Given the description of an element on the screen output the (x, y) to click on. 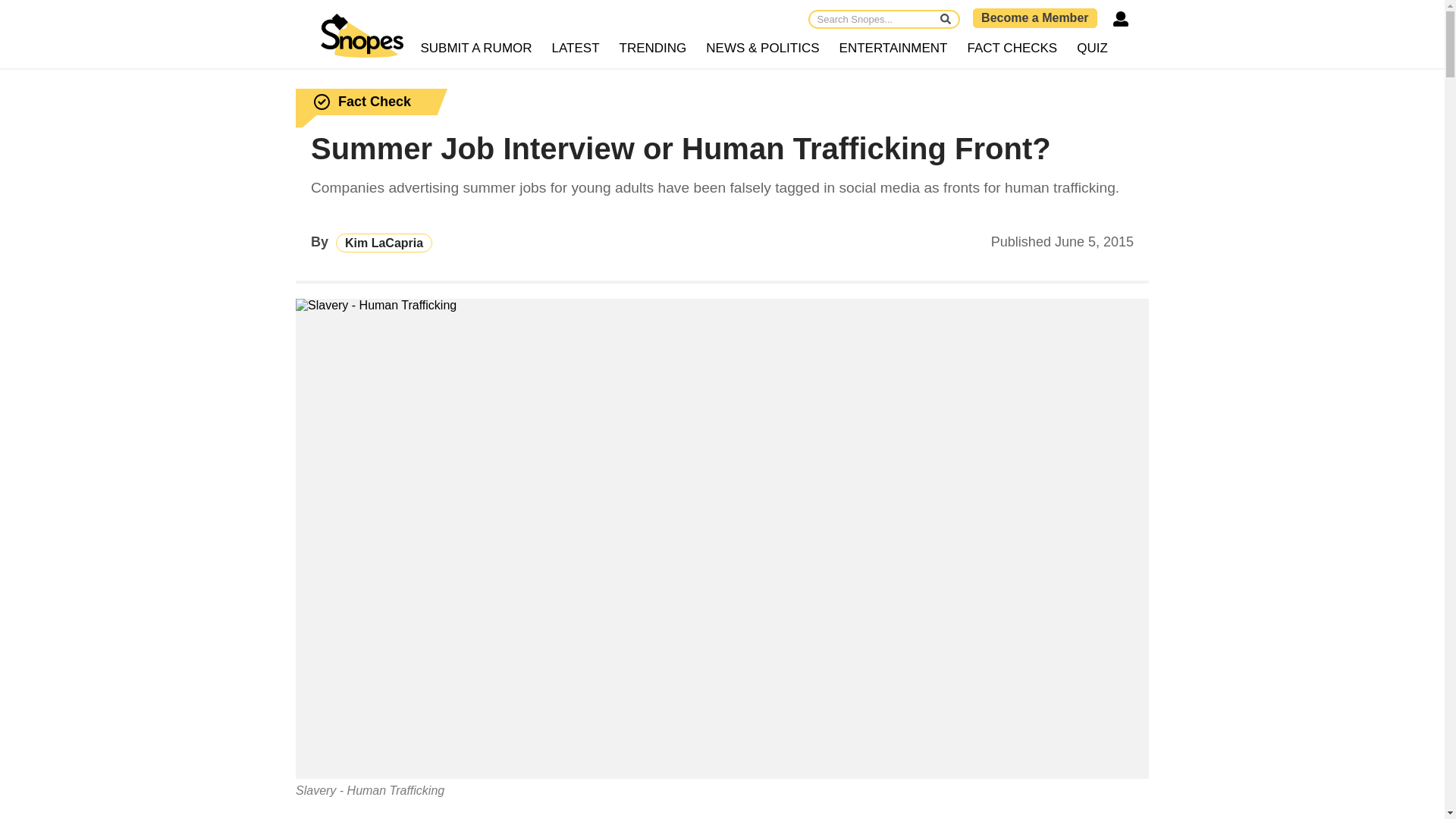
QUIZ (1092, 47)
SUBMIT A RUMOR (475, 47)
FACT CHECKS (1011, 47)
LATEST (576, 47)
Kim LaCapria (384, 242)
Become a Member (1034, 17)
ENTERTAINMENT (893, 47)
TRENDING (653, 47)
